Given the description of an element on the screen output the (x, y) to click on. 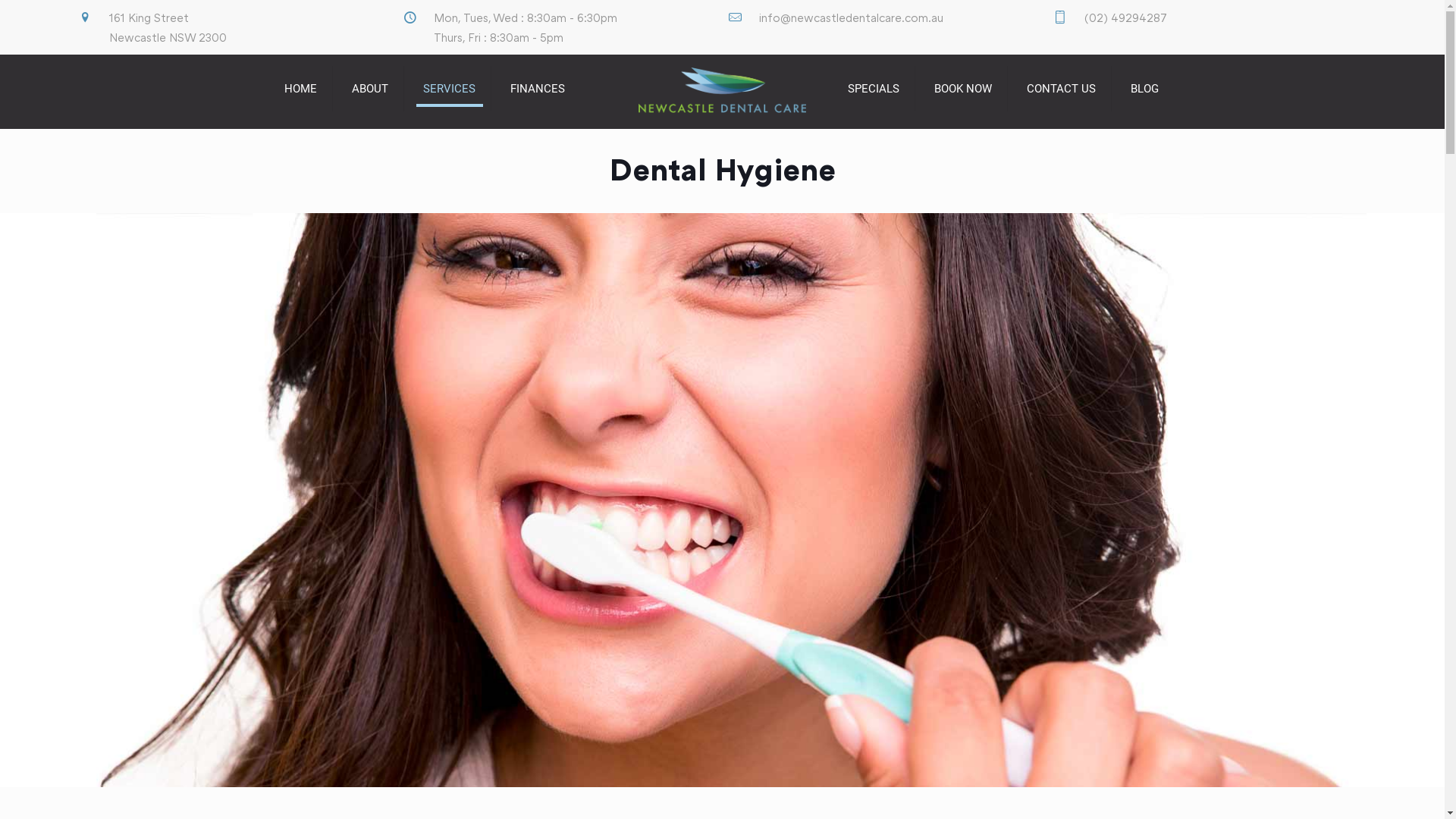
dental-hygiene Element type: hover (722, 500)
FINANCES Element type: text (536, 88)
SERVICES Element type: text (449, 88)
CONTACT US Element type: text (1061, 88)
SPECIALS Element type: text (873, 88)
BOOK NOW Element type: text (963, 88)
info@newcastledentalcare.com.au Element type: text (851, 17)
Newcastle Dental Element type: hover (722, 88)
(02) 49294287 Element type: text (1125, 17)
BLOG Element type: text (1144, 88)
ABOUT Element type: text (370, 88)
HOME Element type: text (300, 88)
